Given the description of an element on the screen output the (x, y) to click on. 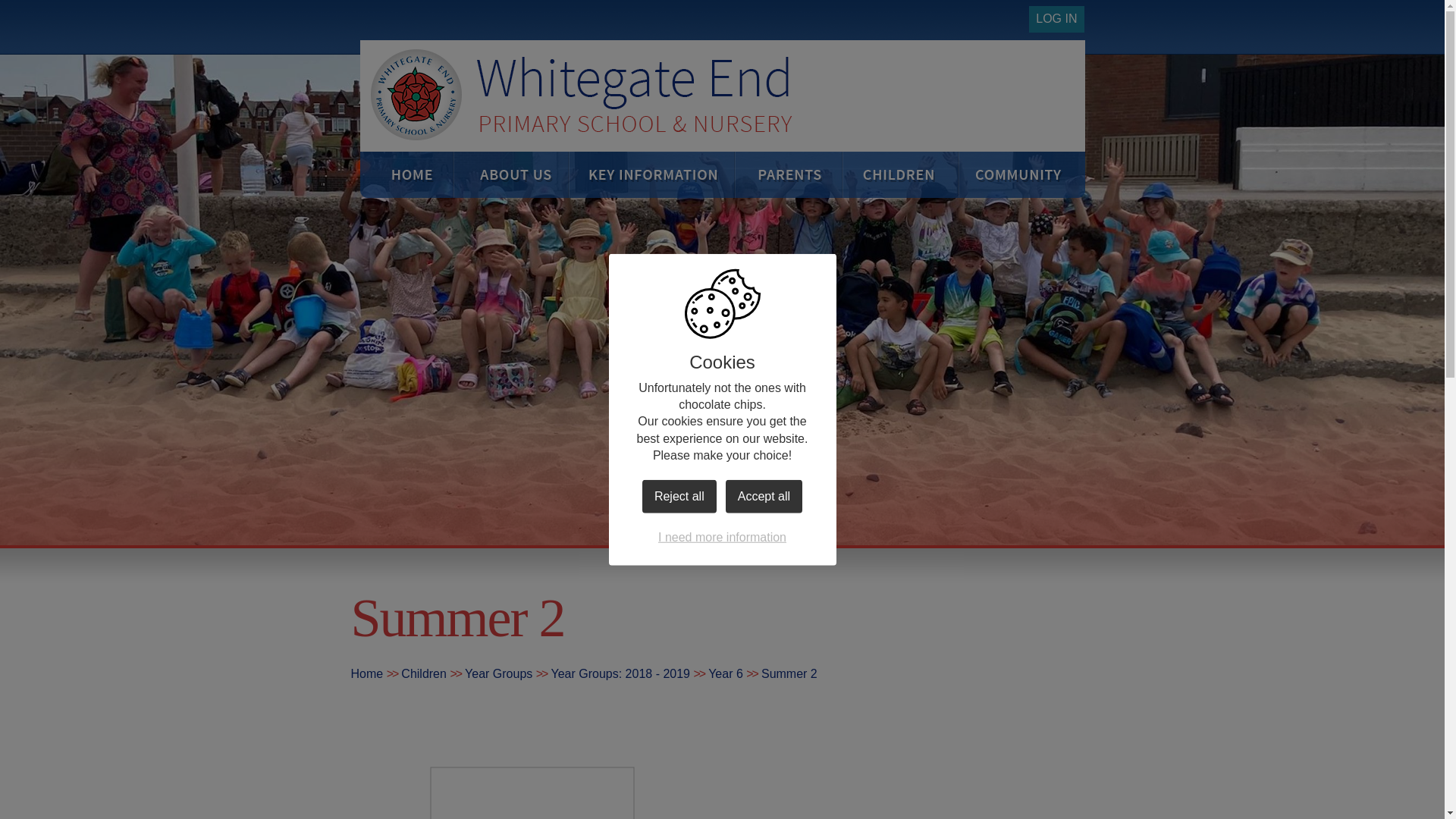
Home (418, 174)
LOG IN (1056, 18)
About Us (521, 174)
